Given the description of an element on the screen output the (x, y) to click on. 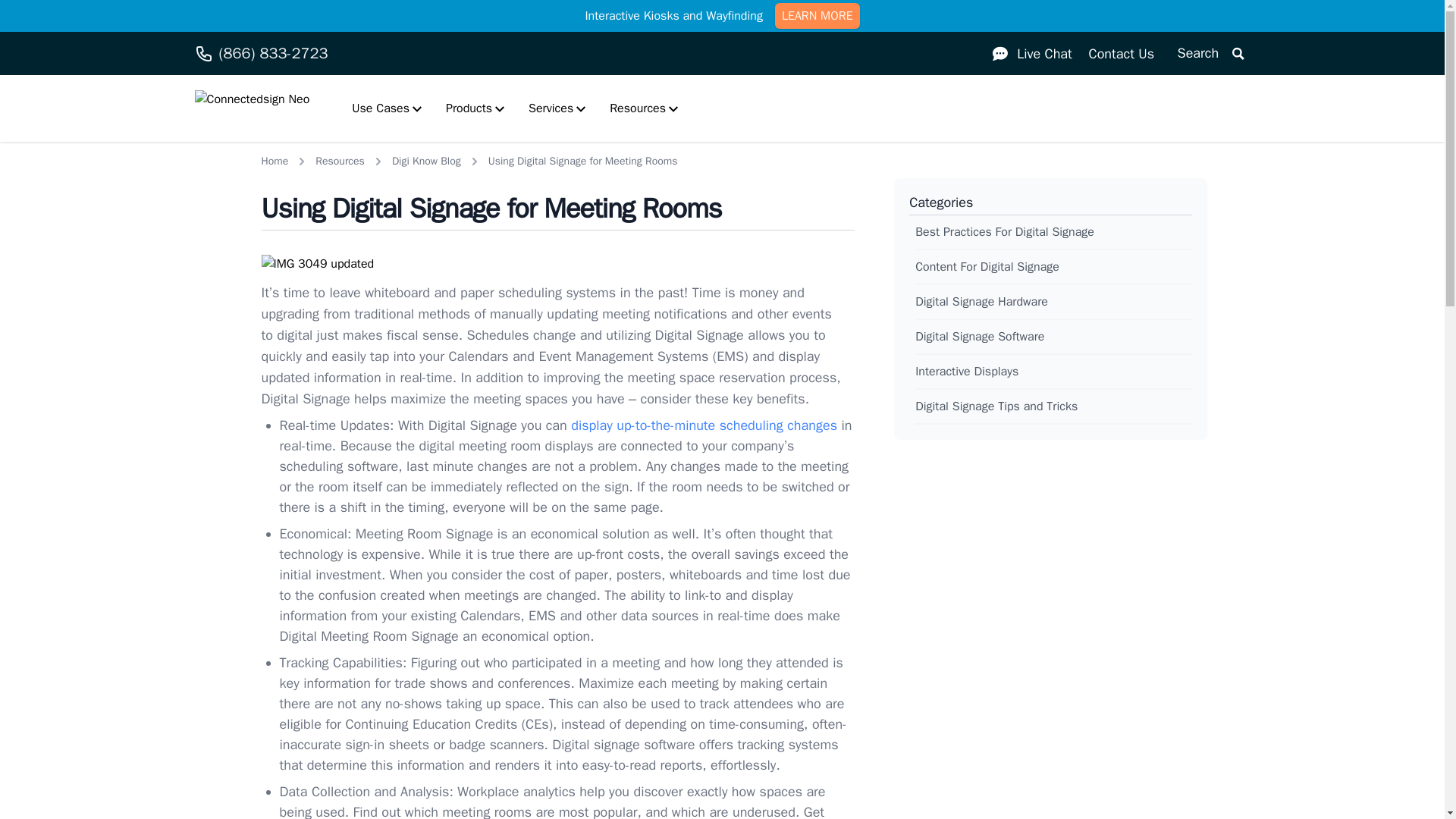
LEARN MORE (817, 15)
Resources (643, 108)
Live Chat (1033, 53)
Products (474, 108)
Contact Us (1120, 53)
Use Cases (386, 108)
Services (556, 108)
